Given the description of an element on the screen output the (x, y) to click on. 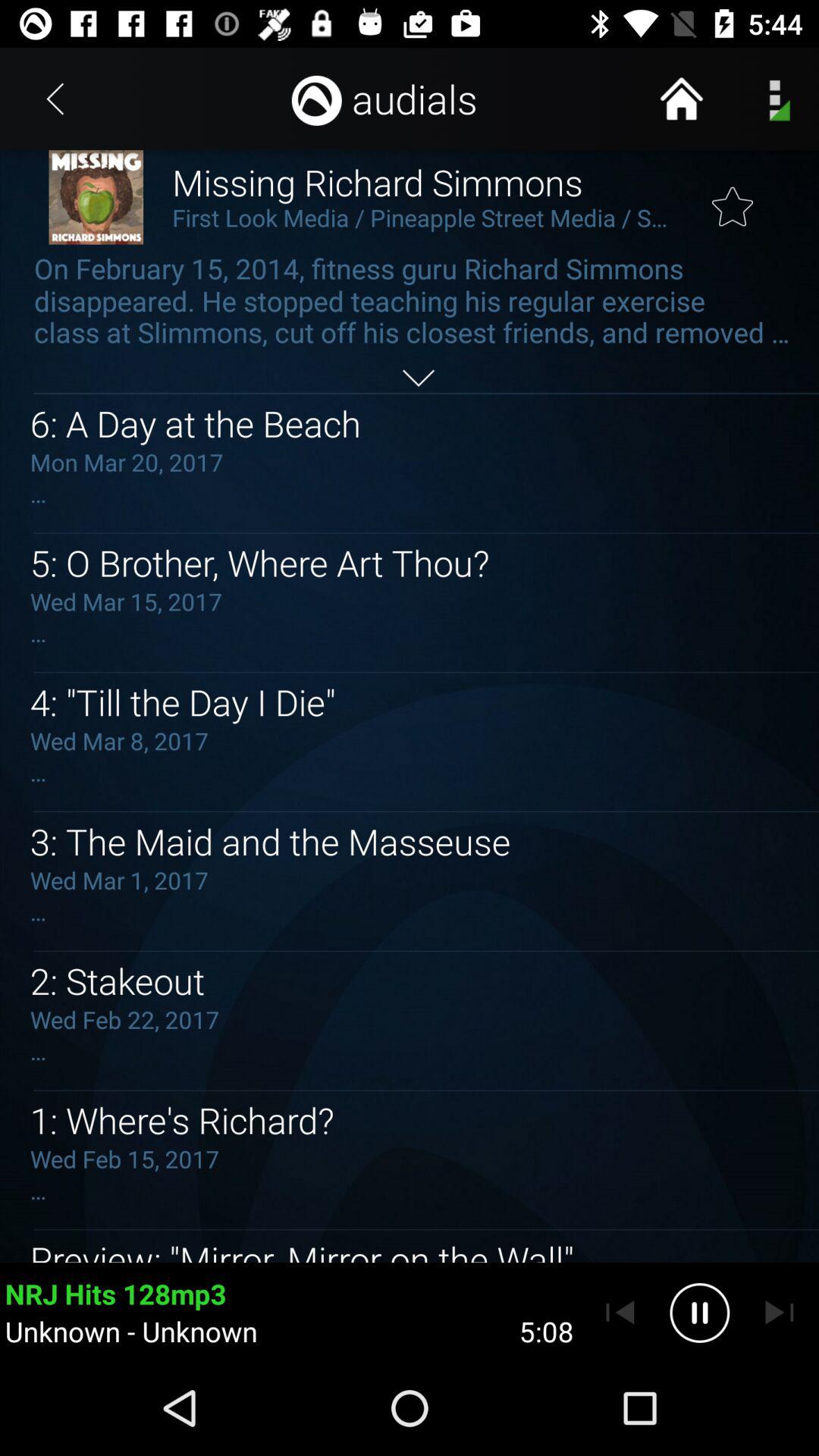
pause music (699, 1312)
